Given the description of an element on the screen output the (x, y) to click on. 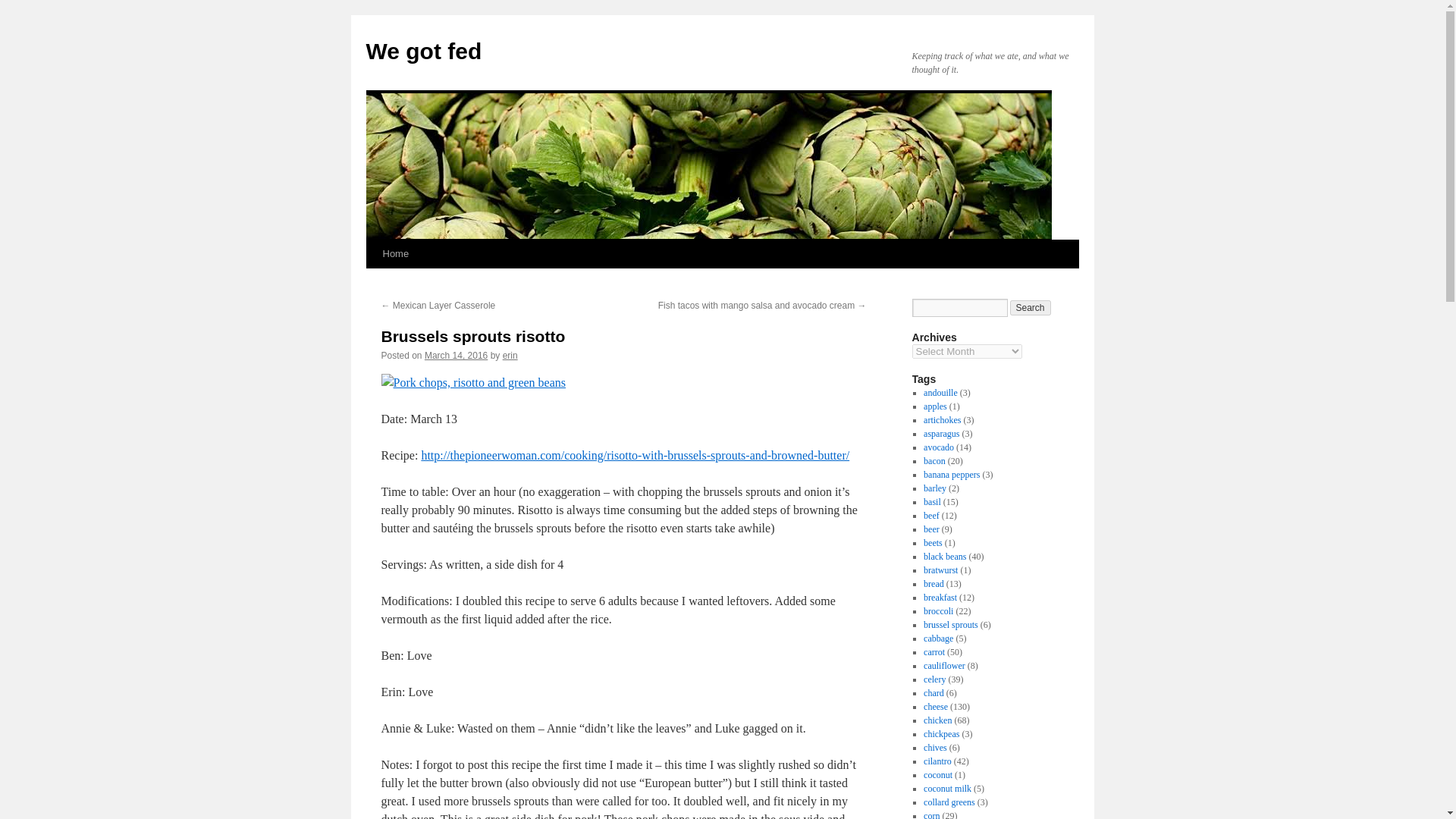
brussel sprouts (950, 624)
andouille (940, 392)
apples (935, 406)
bratwurst (940, 570)
We got fed (423, 50)
Pork chops, risotto and green beans (473, 382)
beer (931, 529)
View all posts by erin (510, 355)
March 14, 2016 (456, 355)
artichokes (941, 419)
